Given the description of an element on the screen output the (x, y) to click on. 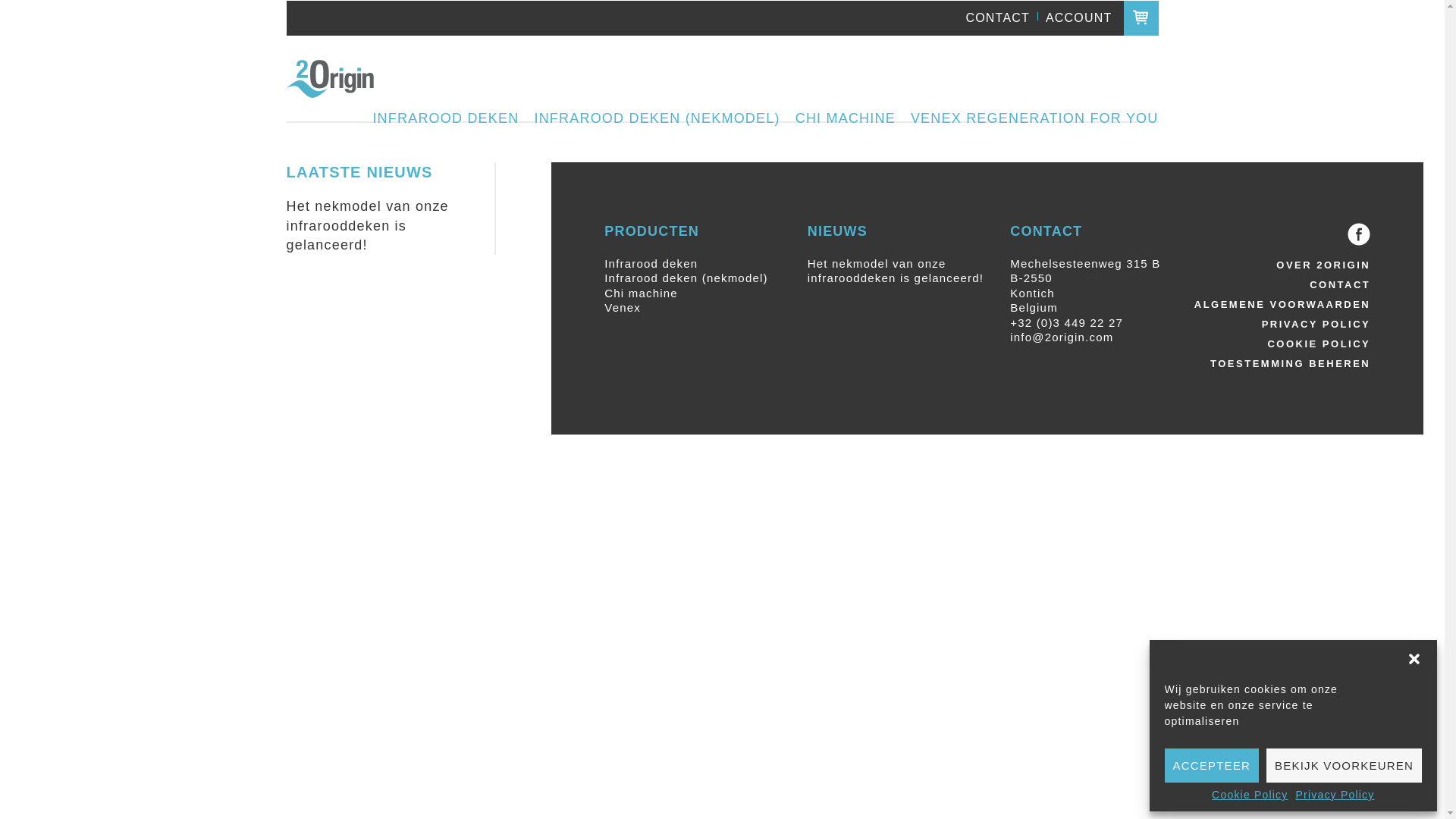
INFRAROOD DEKEN Element type: text (445, 118)
ALGEMENE VOORWAARDEN Element type: text (1280, 304)
Infrarood deken Element type: text (650, 263)
INFRAROOD DEKEN (NEKMODEL) Element type: text (656, 118)
info@2origin.com Element type: text (1061, 337)
Het nekmodel van onze infrarooddeken is gelanceerd! Element type: text (372, 225)
CONTACT Element type: text (1280, 284)
ACCEPTEER Element type: text (1211, 765)
ACCOUNT Element type: text (1079, 17)
TOESTEMMING BEHEREN Element type: text (1290, 363)
Ga naar de homepagina Element type: hover (329, 78)
Het nekmodel van onze infrarooddeken is gelanceerd! Element type: text (897, 270)
+32 (0)3 449 22 27 Element type: text (1066, 322)
facebook Element type: text (1358, 233)
CHI MACHINE Element type: text (845, 118)
Privacy Policy Element type: text (1334, 795)
Cookie Policy Element type: text (1249, 795)
BEKIJK VOORKEUREN Element type: text (1343, 765)
VENEX REGENERATION FOR YOU Element type: text (1034, 118)
CONTACT Element type: text (997, 17)
Infrarood deken (nekmodel) Element type: text (685, 277)
  Element type: text (1140, 16)
Venex Element type: text (622, 307)
Chi machine Element type: text (640, 293)
PRIVACY POLICY Element type: text (1280, 324)
COOKIE POLICY Element type: text (1280, 344)
OVER 2ORIGIN Element type: text (1280, 265)
